Given the description of an element on the screen output the (x, y) to click on. 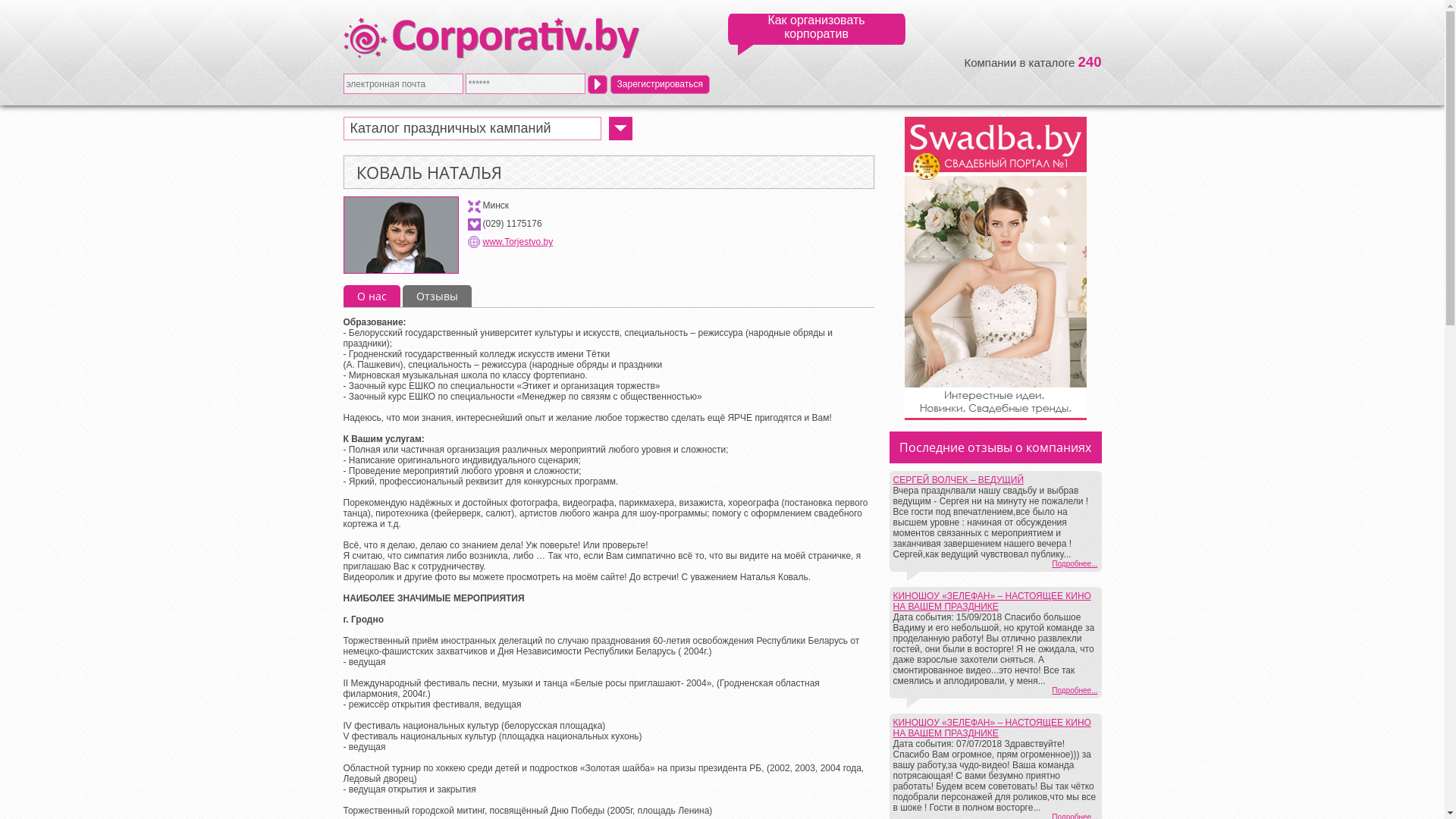
  Element type: text (597, 83)
www.Torjestvo.by Element type: text (517, 241)
